Given the description of an element on the screen output the (x, y) to click on. 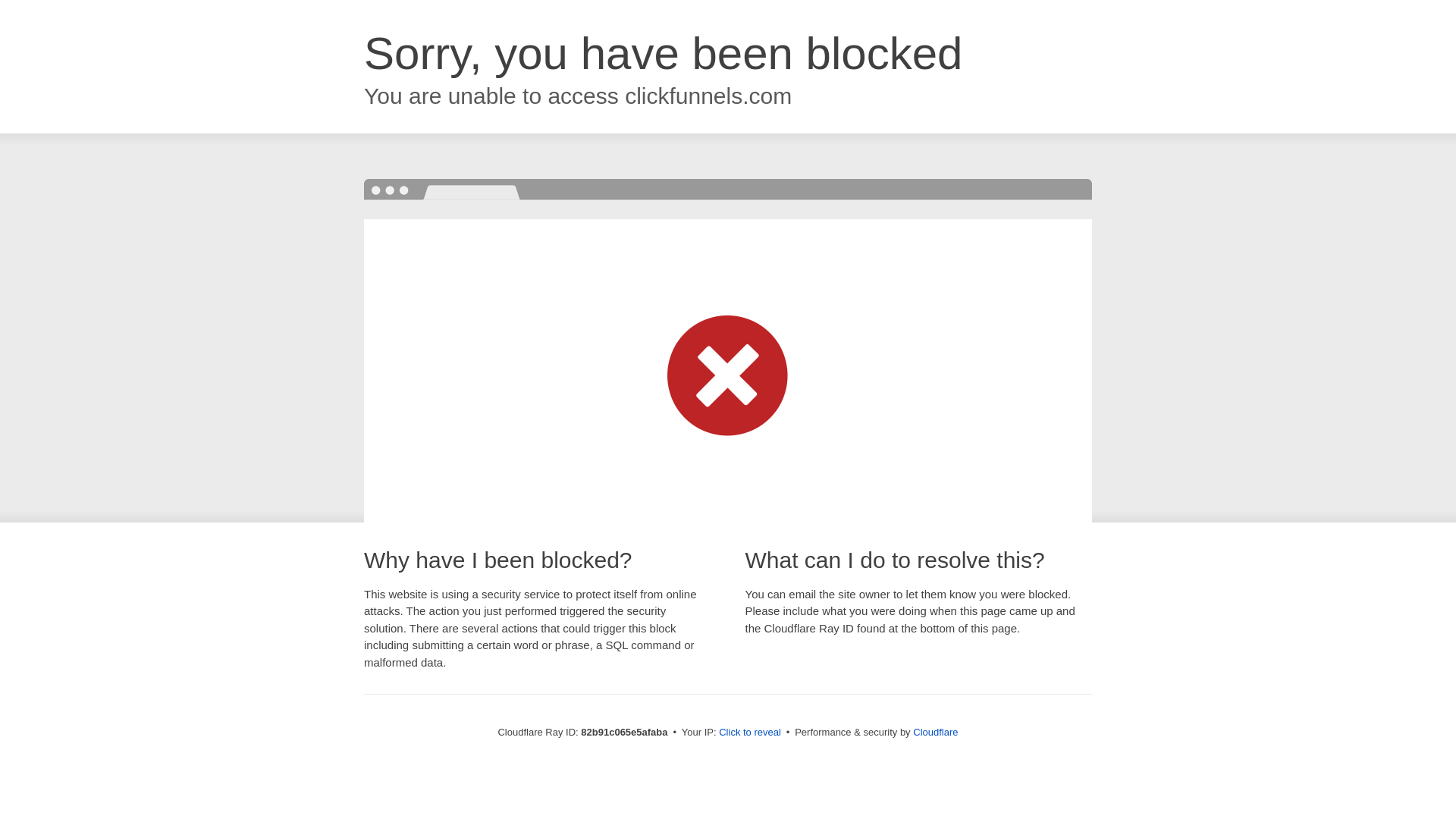
Click to reveal Element type: text (749, 732)
Cloudflare Element type: text (935, 731)
